Given the description of an element on the screen output the (x, y) to click on. 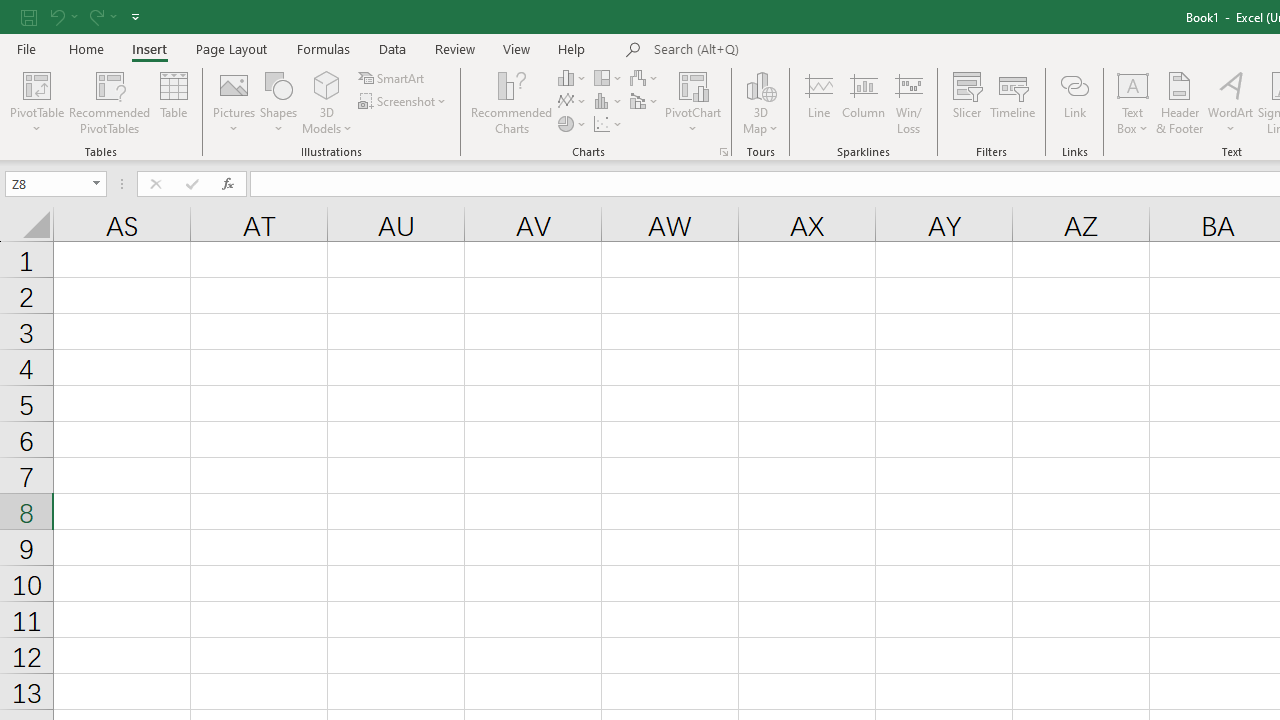
Slicer... (966, 102)
Line (818, 102)
Link (1074, 102)
Draw Horizontal Text Box (1133, 84)
Screenshot (403, 101)
Column (863, 102)
Recommended Charts (723, 151)
Shapes (278, 102)
